Given the description of an element on the screen output the (x, y) to click on. 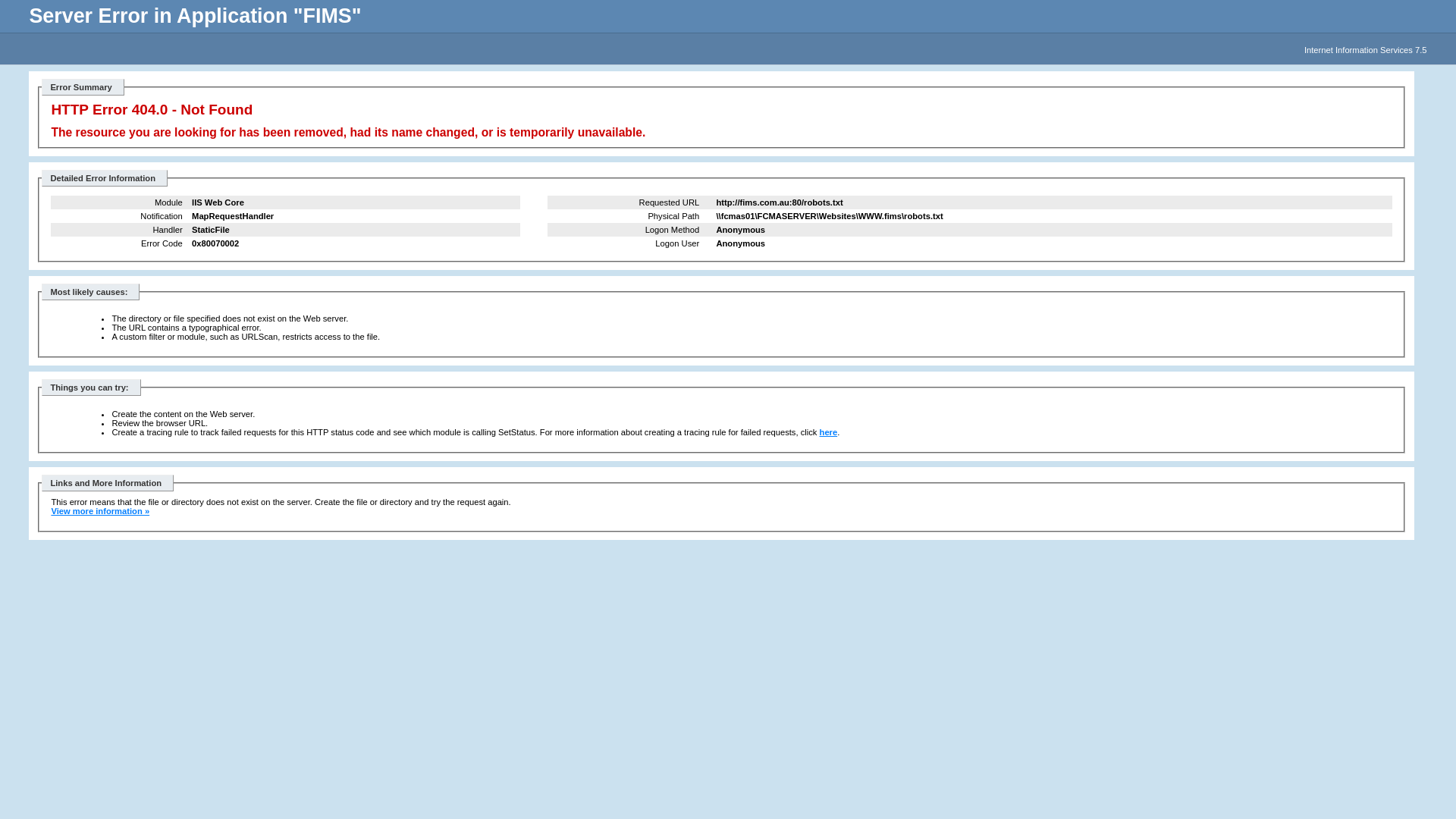
here Element type: text (828, 431)
